Given the description of an element on the screen output the (x, y) to click on. 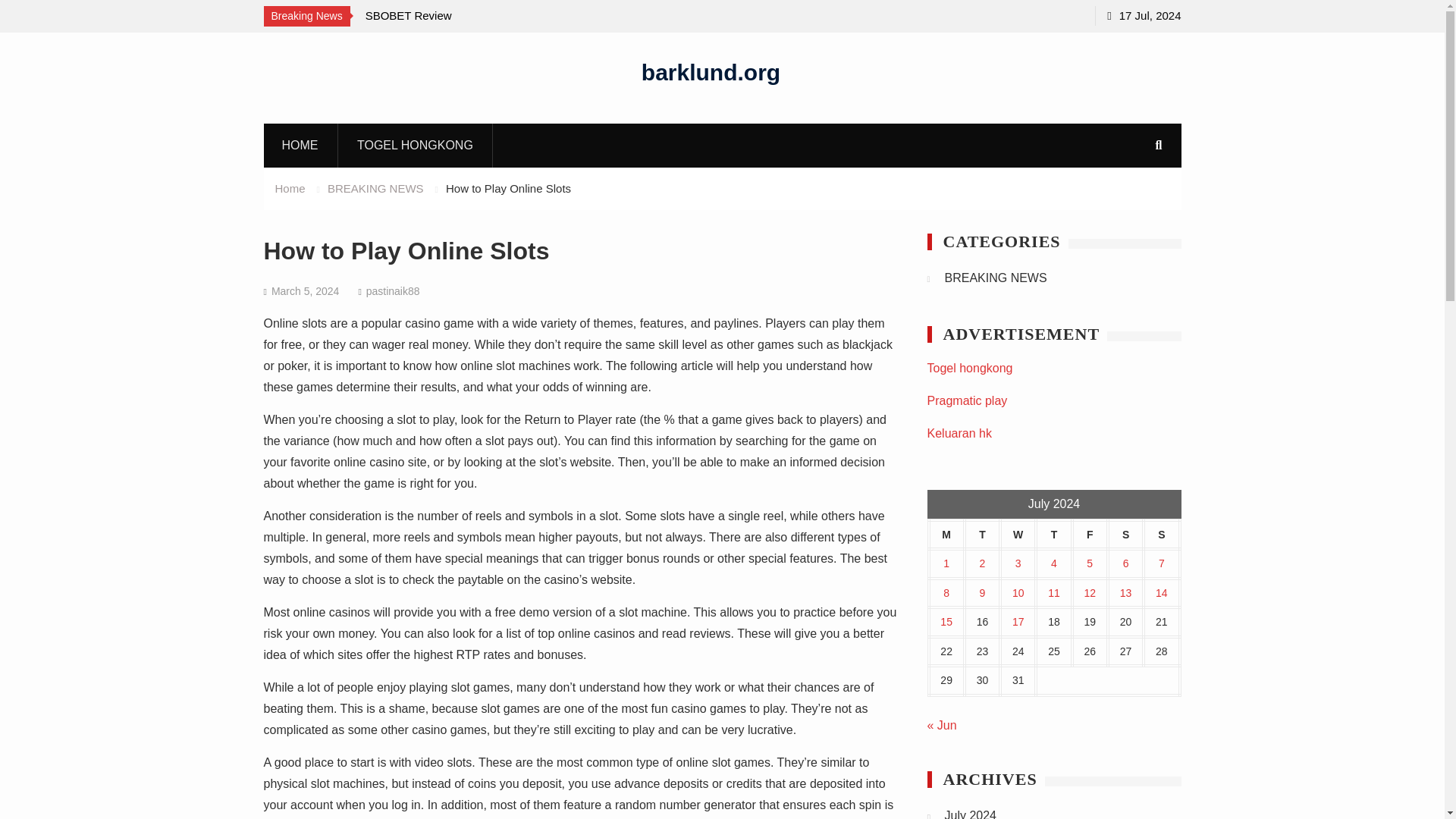
9 (982, 592)
11 (1053, 592)
Togel hongkong (968, 367)
5 (1089, 563)
8 (946, 592)
TOGEL HONGKONG (415, 144)
Wednesday (1017, 534)
Pragmatic play (966, 400)
7 (1161, 563)
2 (982, 563)
SBOBET Review (409, 15)
Sunday (1160, 534)
March 5, 2024 (304, 291)
pastinaik88 (393, 291)
barklund.org (711, 71)
